Given the description of an element on the screen output the (x, y) to click on. 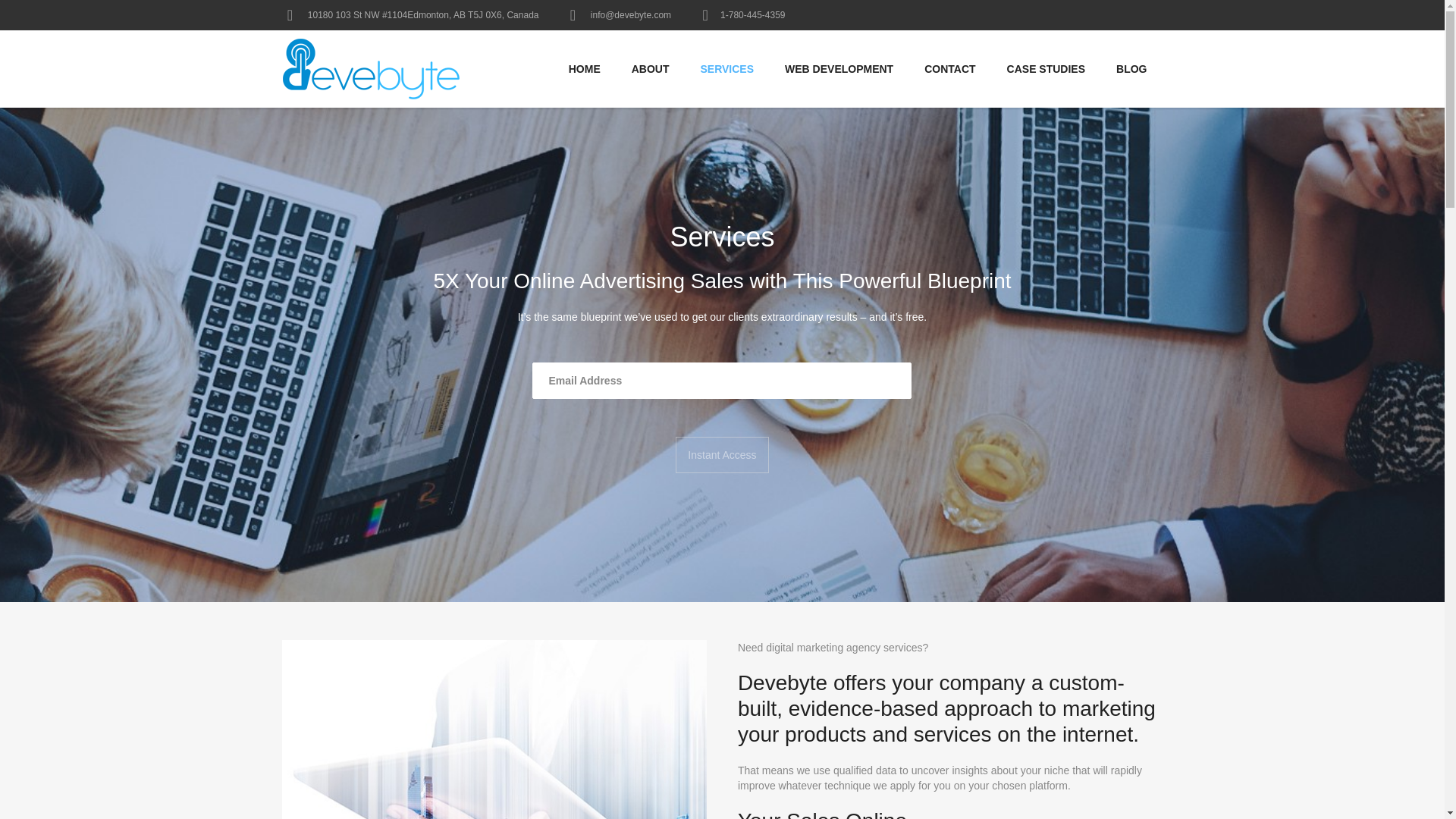
CONTACT (949, 68)
WEB DEVELOPMENT (839, 68)
SERVICES (727, 68)
CASE STUDIES (1045, 68)
Instant Access (721, 454)
1-780-445-4359 (752, 14)
